Given the description of an element on the screen output the (x, y) to click on. 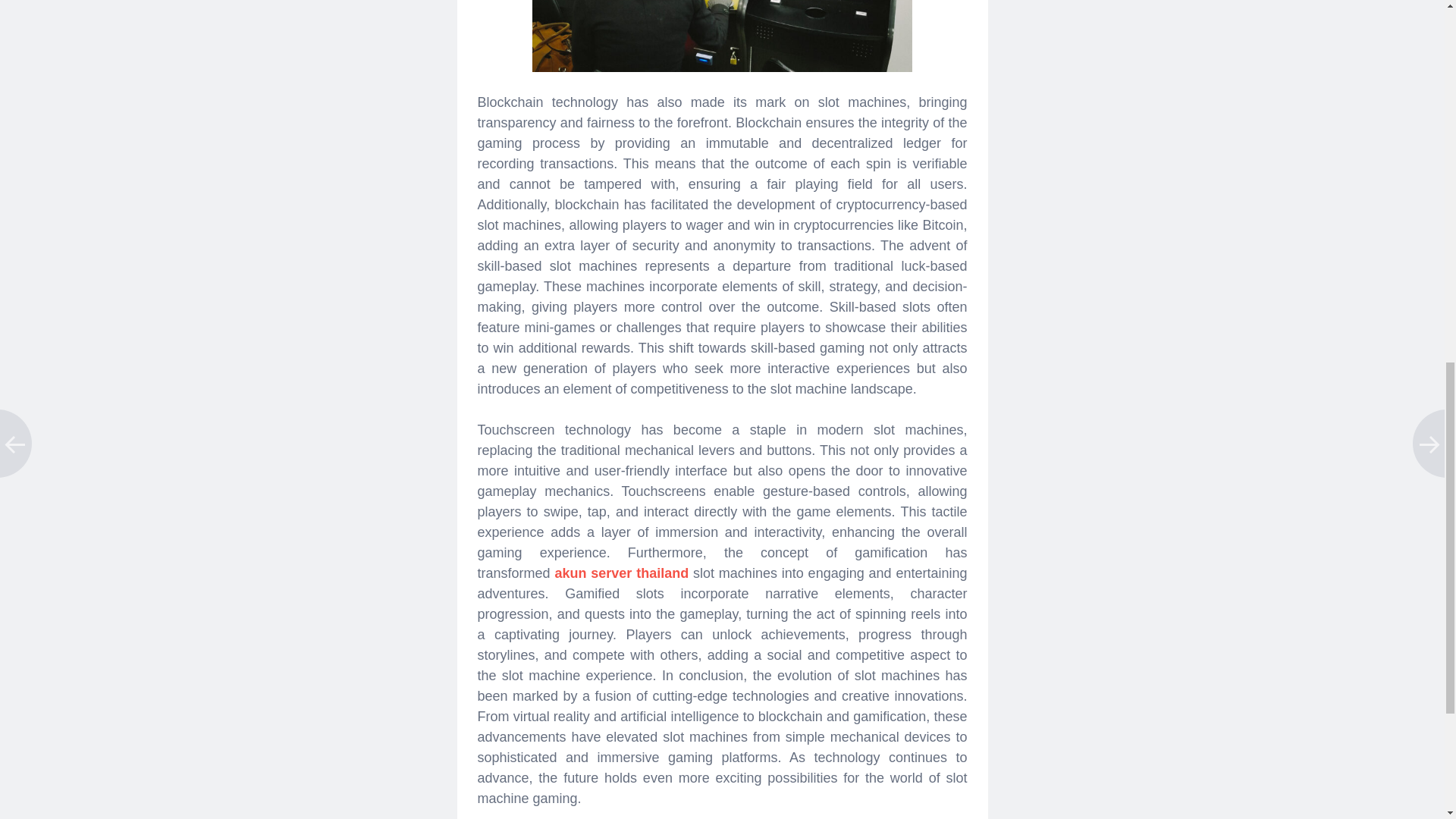
akun server thailand (621, 572)
